Given the description of an element on the screen output the (x, y) to click on. 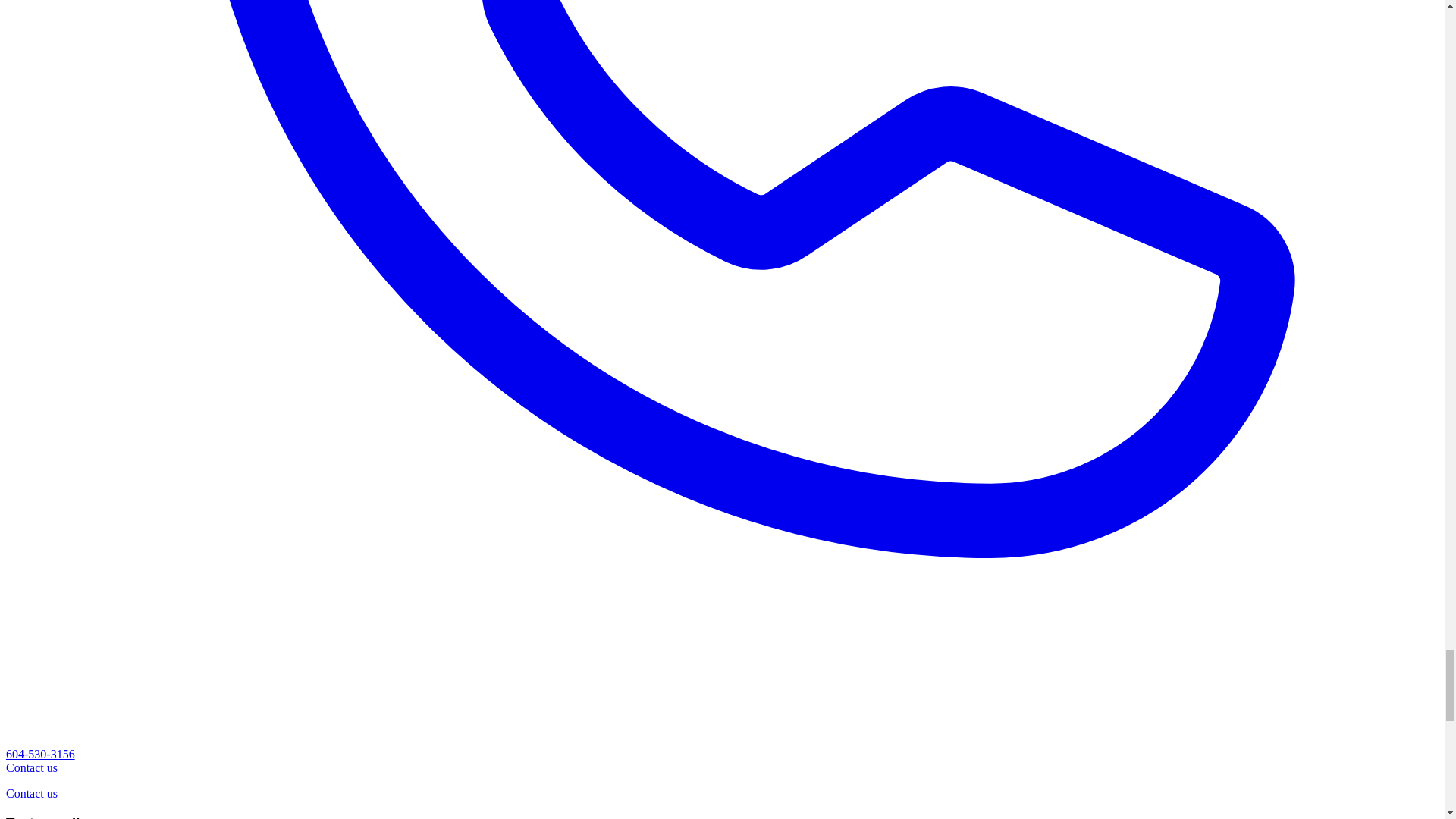
Contact us (31, 793)
